Given the description of an element on the screen output the (x, y) to click on. 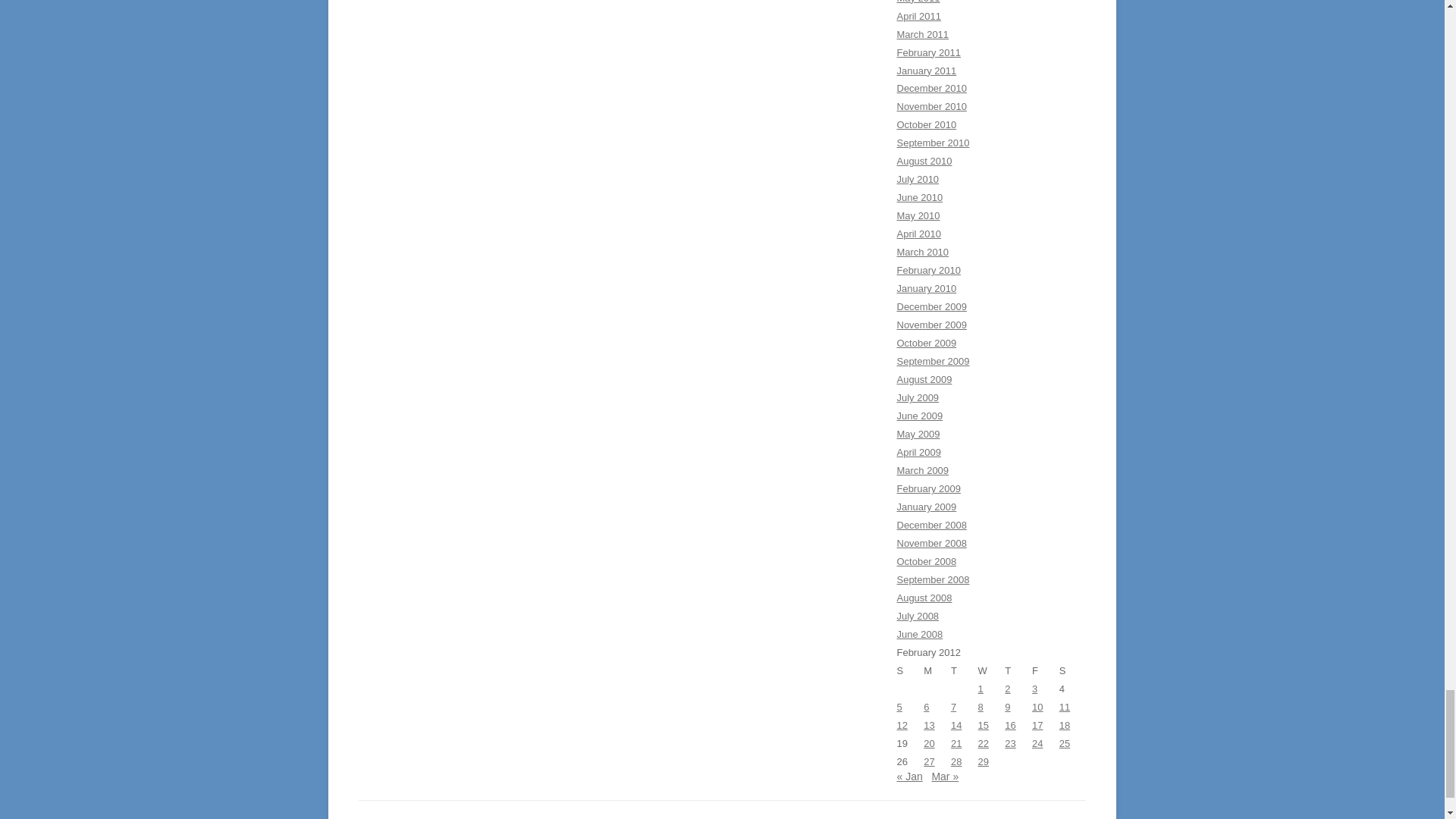
Sunday (909, 670)
Thursday (1018, 670)
Monday (936, 670)
Wednesday (992, 670)
Saturday (1072, 670)
Tuesday (964, 670)
Friday (1045, 670)
